Given the description of an element on the screen output the (x, y) to click on. 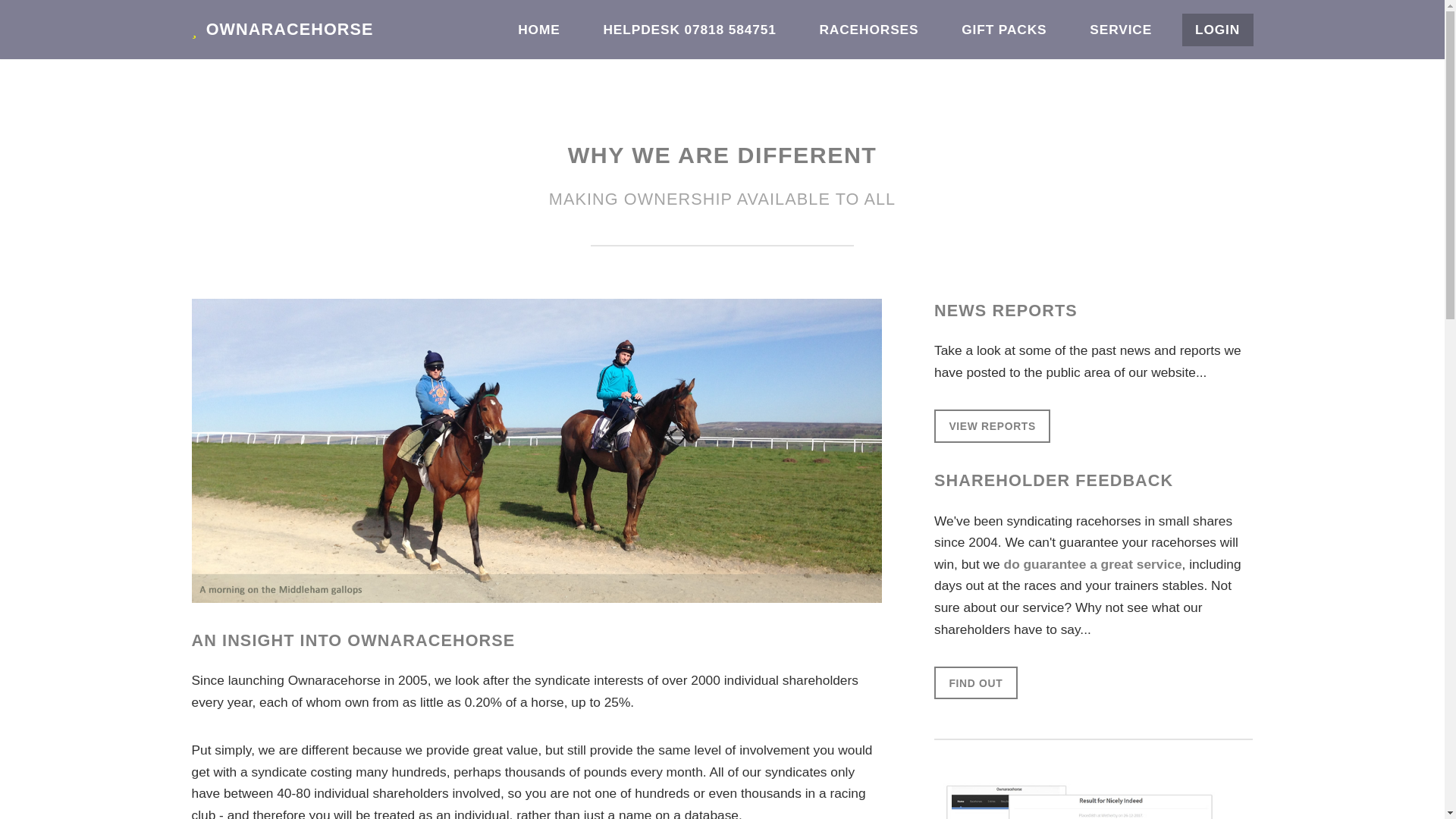
OWNARACEHORSE (281, 28)
SERVICE (1120, 29)
GIFT PACKS (1004, 29)
HELPDESK 07818 584751 (689, 29)
HOME (539, 29)
RACEHORSES (868, 29)
